Given the description of an element on the screen output the (x, y) to click on. 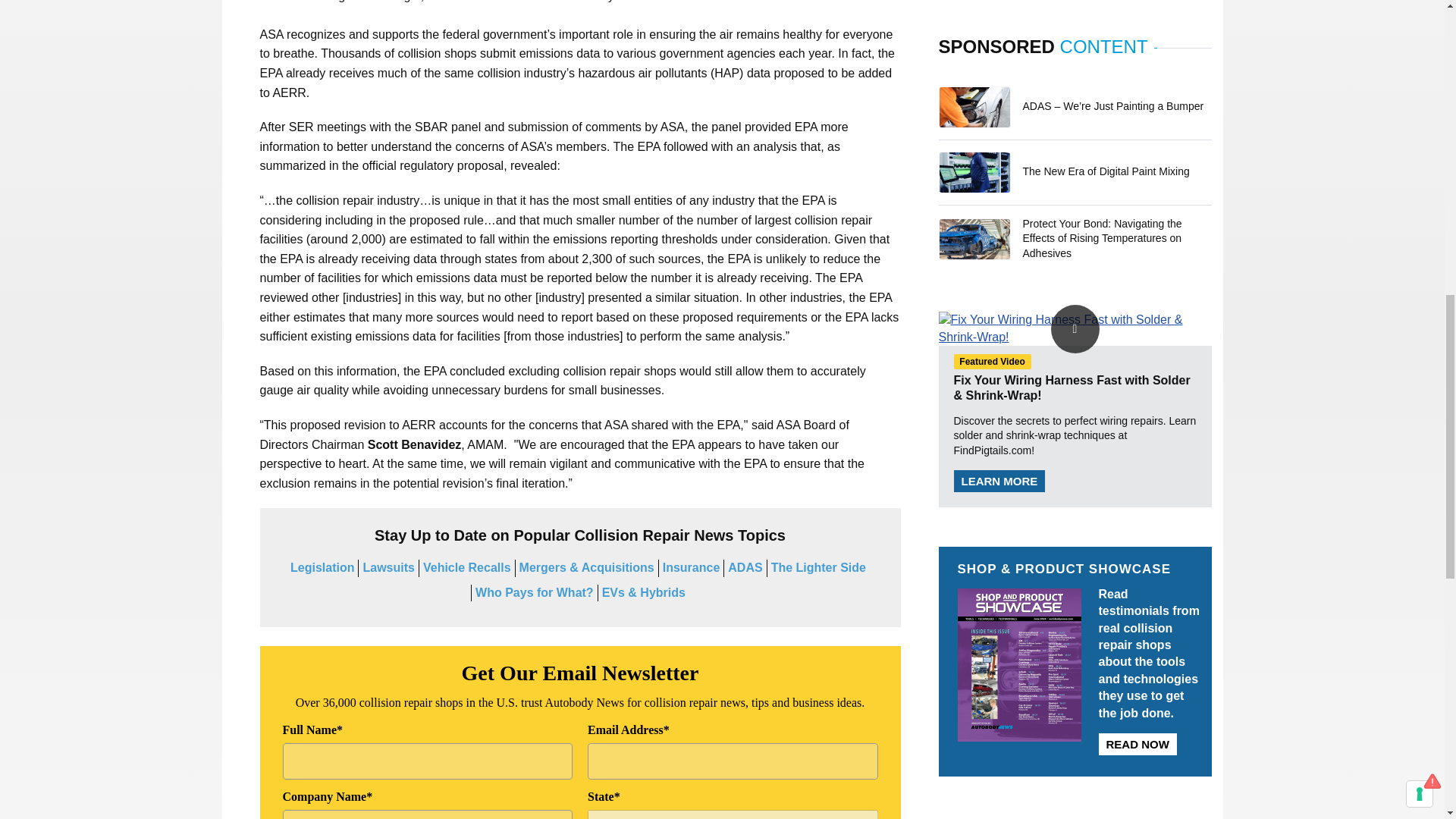
ADAS (744, 567)
Vehicle Recalls (467, 567)
Lawsuits (387, 567)
The Lighter Side (818, 567)
Insurance (691, 567)
Watch Now (1075, 328)
Legislation (321, 567)
Who Pays for What? (535, 592)
